Given the description of an element on the screen output the (x, y) to click on. 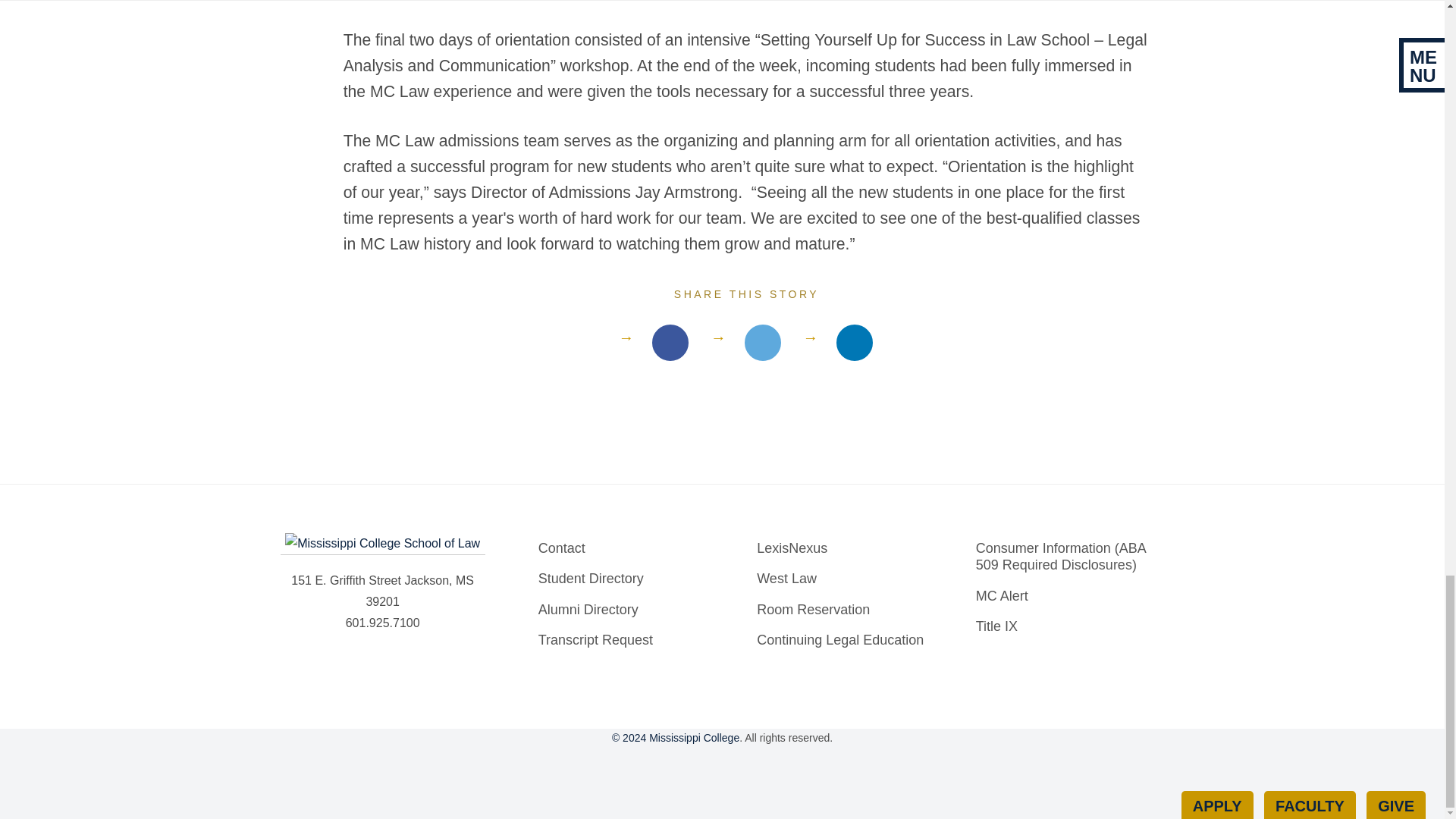
Instagram (722, 765)
Share on Facebook (762, 342)
Share on Facebook (670, 342)
LinkedIn (758, 765)
Student Directory (628, 578)
Title IX (1066, 626)
Continuing Legal Education (847, 640)
Issuu (795, 765)
Facebook (649, 765)
West Law (847, 578)
Share on LinkedIn (854, 342)
Transcript Request (628, 640)
LexisNexus (847, 548)
Alumni Directory (628, 609)
MC Alert (1066, 595)
